Given the description of an element on the screen output the (x, y) to click on. 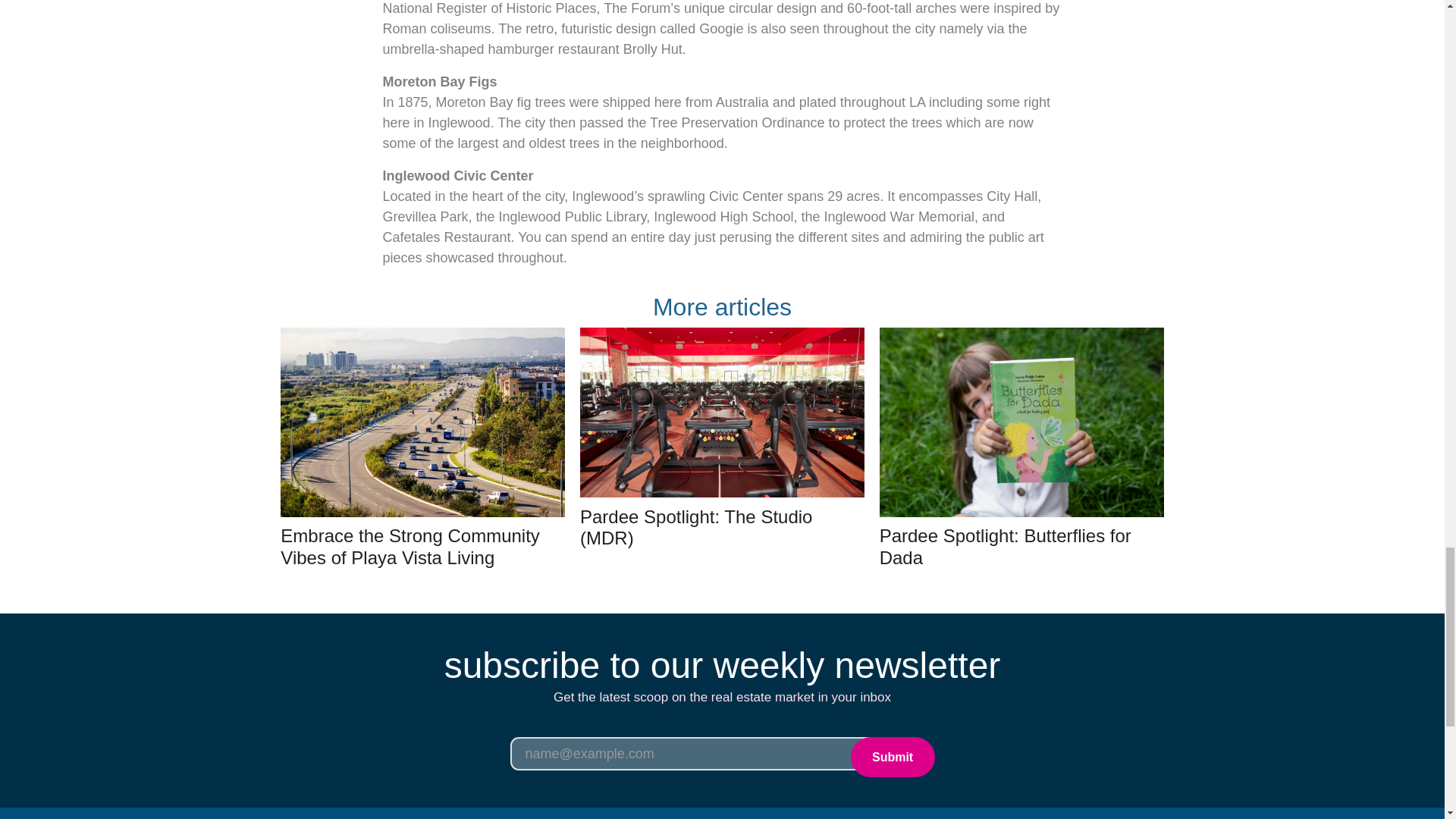
Submit (892, 757)
Submit (892, 757)
Embrace the Strong Community Vibes of Playa Vista Living (409, 546)
Pardee Spotlight: Butterflies for Dada (1005, 546)
